Given the description of an element on the screen output the (x, y) to click on. 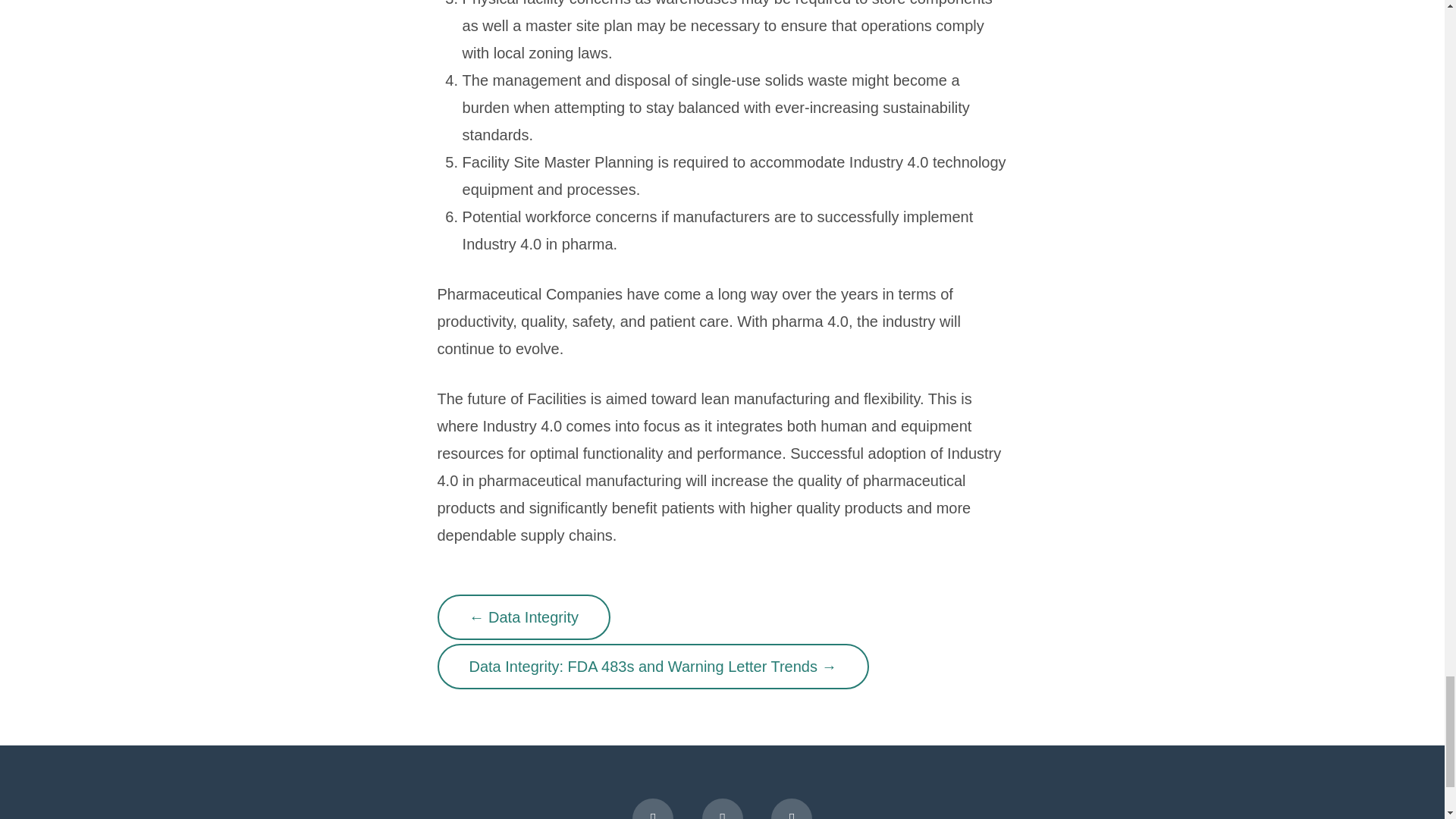
LinkedIn (721, 808)
YouTube (791, 808)
Facebook (651, 808)
